Given the description of an element on the screen output the (x, y) to click on. 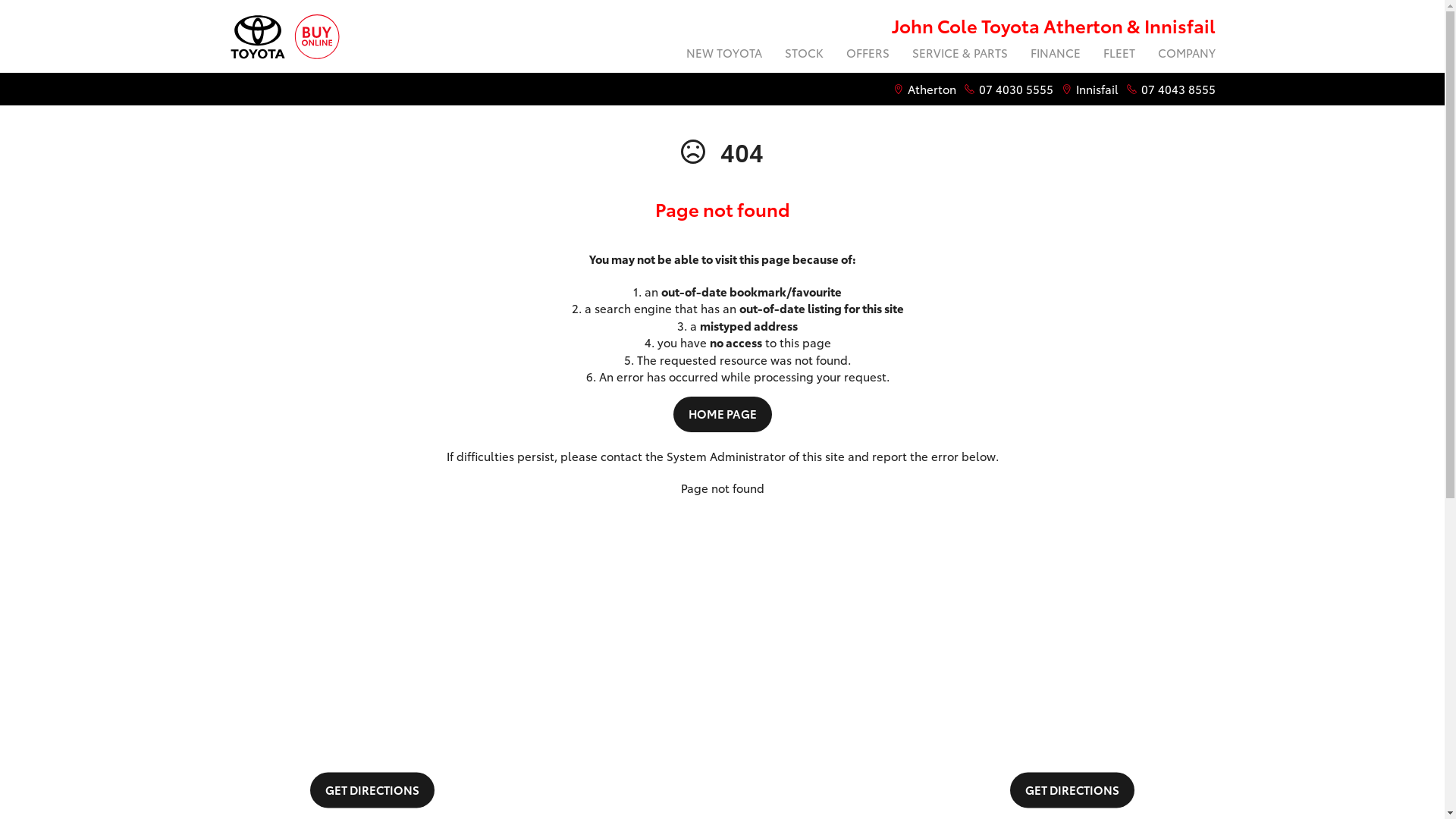
07 4043 8555 Element type: text (1177, 88)
FLEET Element type: text (1119, 54)
NEW TOYOTA Element type: text (723, 54)
Innisfail Element type: text (1096, 88)
FINANCE Element type: text (1055, 54)
OFFERS Element type: text (867, 54)
COMPANY Element type: text (1180, 54)
GET DIRECTIONS Element type: text (372, 789)
07 4030 5555 Element type: text (1015, 88)
GET DIRECTIONS Element type: text (1072, 789)
Atherton Element type: text (930, 88)
STOCK Element type: text (803, 54)
SERVICE & PARTS Element type: text (959, 54)
HOME PAGE Element type: text (722, 413)
